Given the description of an element on the screen output the (x, y) to click on. 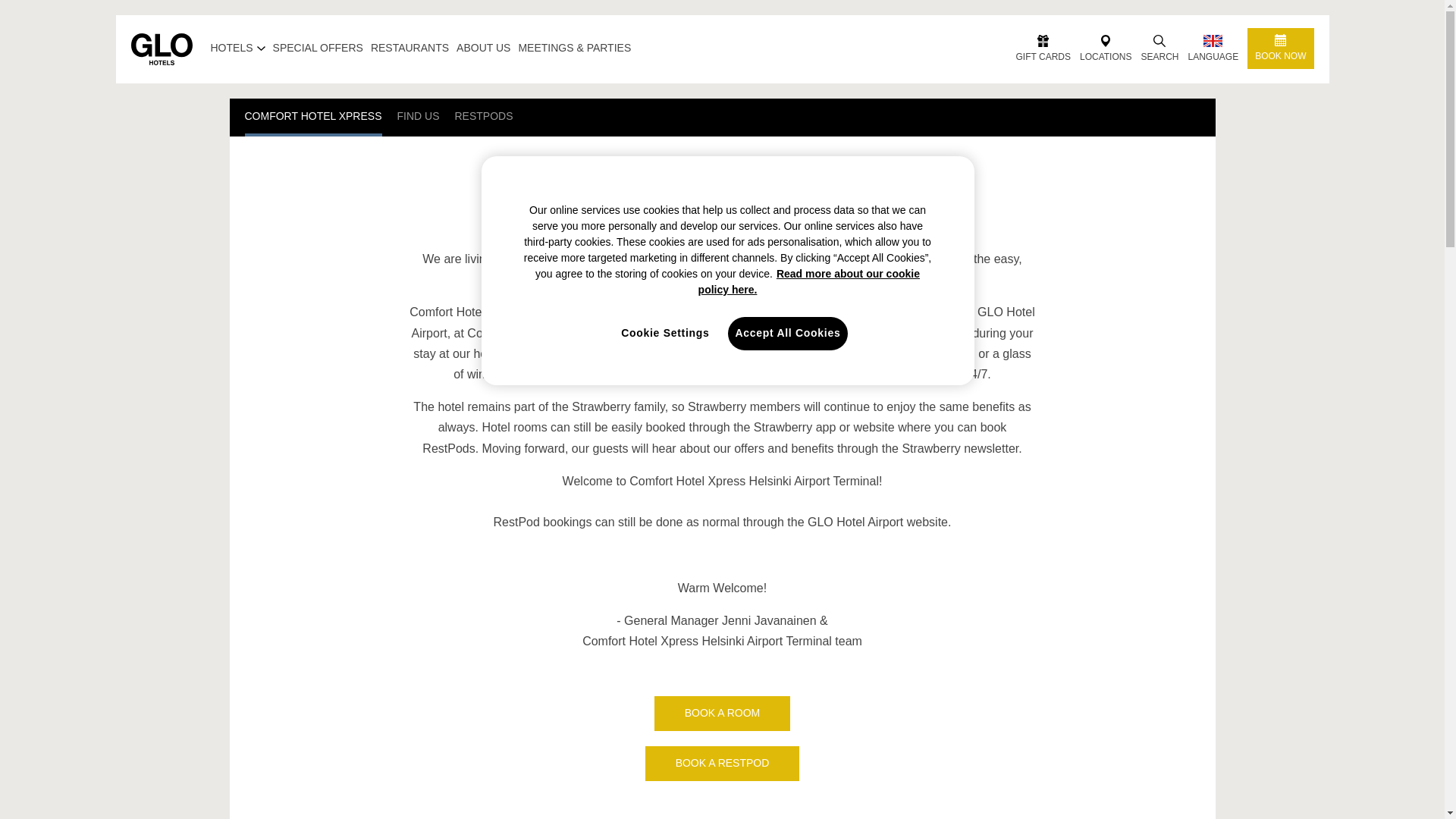
ABOUT US (484, 47)
FIND US (418, 117)
RESTPODS (483, 117)
RESTAURANTS (409, 47)
SPECIAL OFFERS (317, 47)
SEARCH (1158, 49)
HOTELS (237, 47)
BOOK A RESTPOD (722, 763)
LANGUAGE (1213, 49)
GIFT CARDS (1043, 49)
BOOK A ROOM (721, 713)
COMFORT HOTEL XPRESS (312, 117)
LOCATIONS (1105, 49)
BOOK NOW (1280, 47)
